Given the description of an element on the screen output the (x, y) to click on. 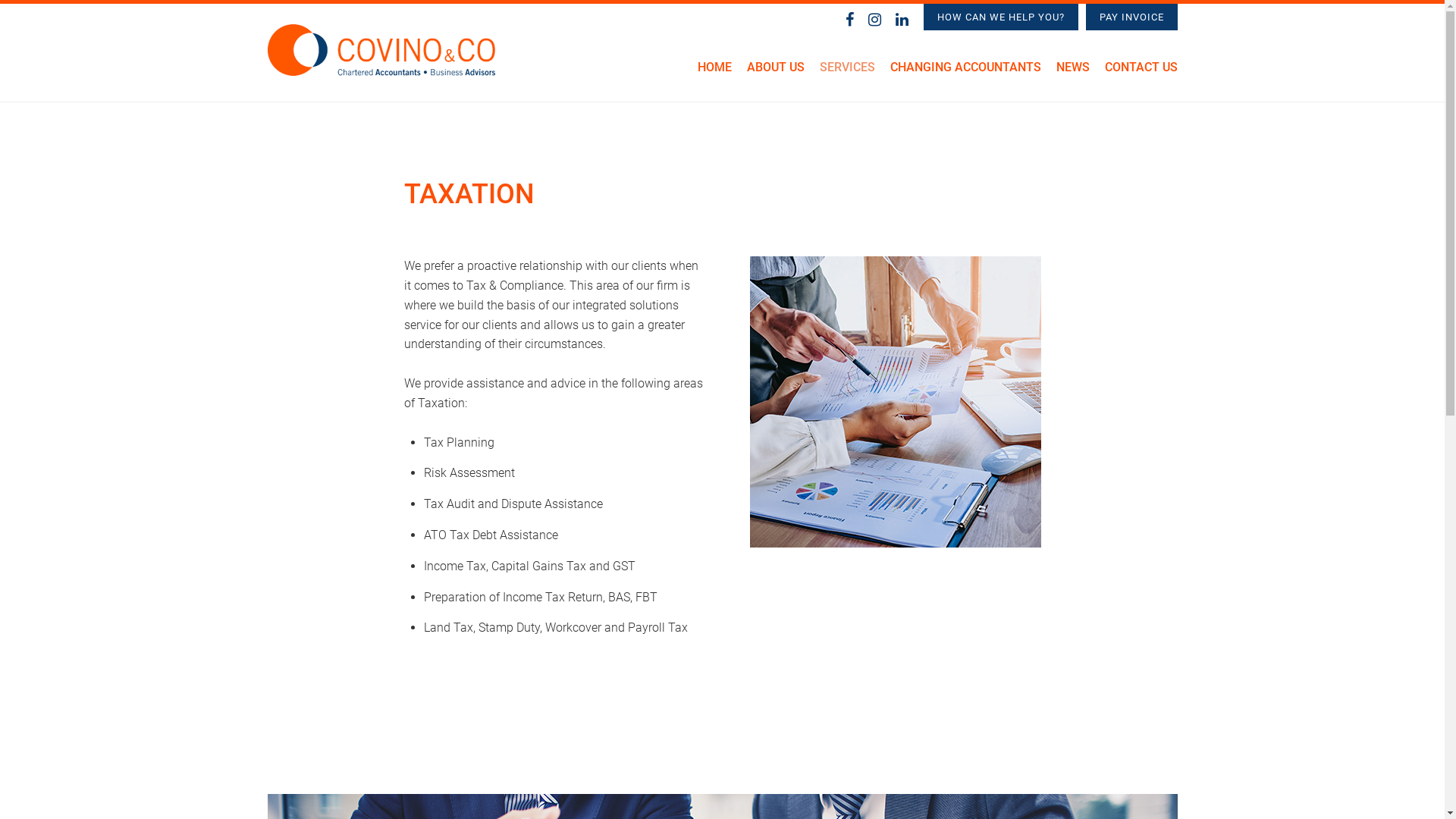
NEWS Element type: text (1071, 72)
HOW CAN WE HELP YOU? Element type: text (1000, 16)
CONTACT US Element type: text (1140, 72)
PAY INVOICE Element type: text (1131, 16)
SERVICES Element type: text (846, 72)
HOME Element type: text (714, 72)
CHANGING ACCOUNTANTS Element type: text (965, 72)
ABOUT US Element type: text (774, 72)
